Given the description of an element on the screen output the (x, y) to click on. 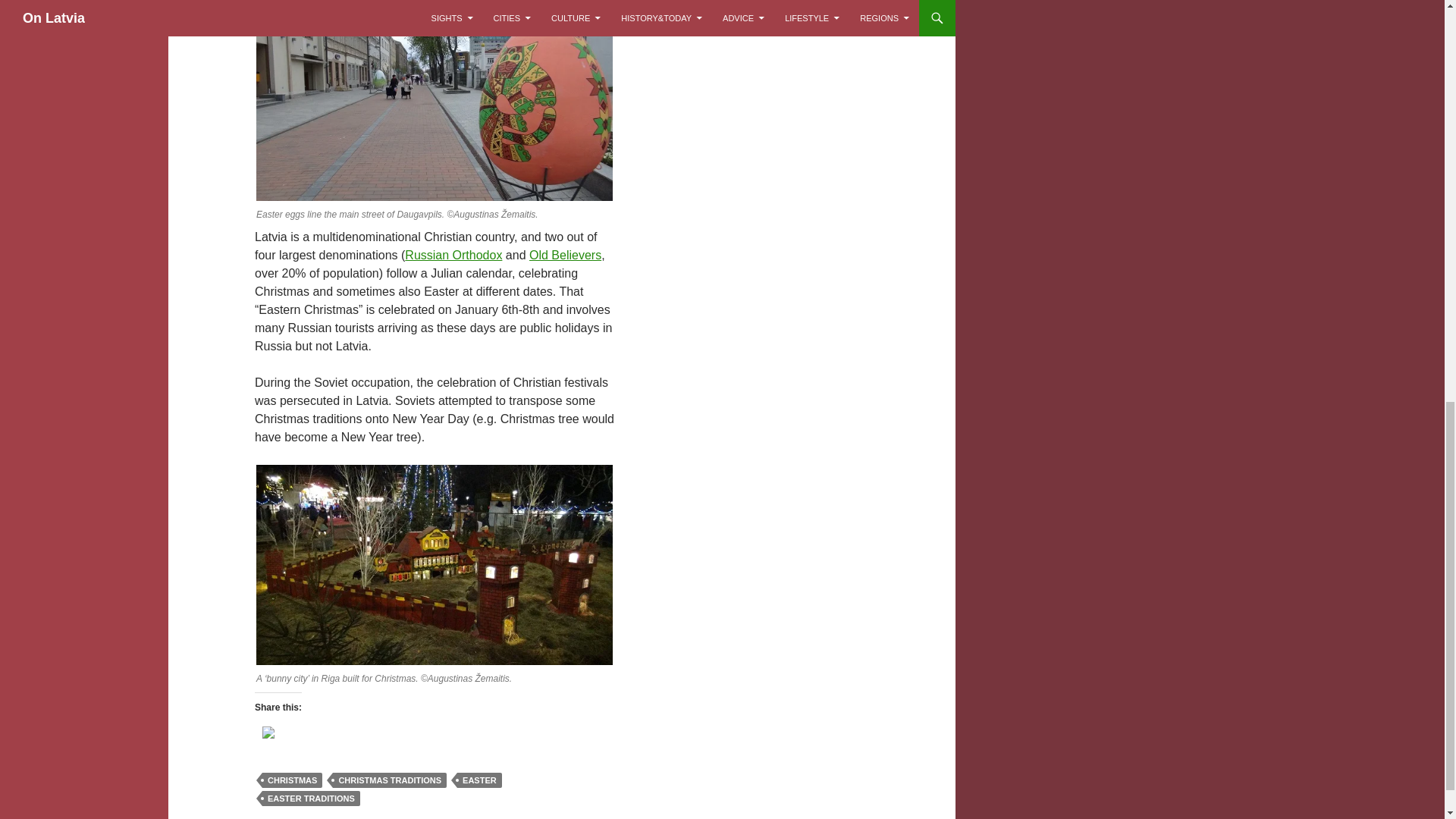
Easter eggs line the main street of Daugavpils (434, 100)
A 'bunny city' in Riga built for Christmas (434, 565)
